Given the description of an element on the screen output the (x, y) to click on. 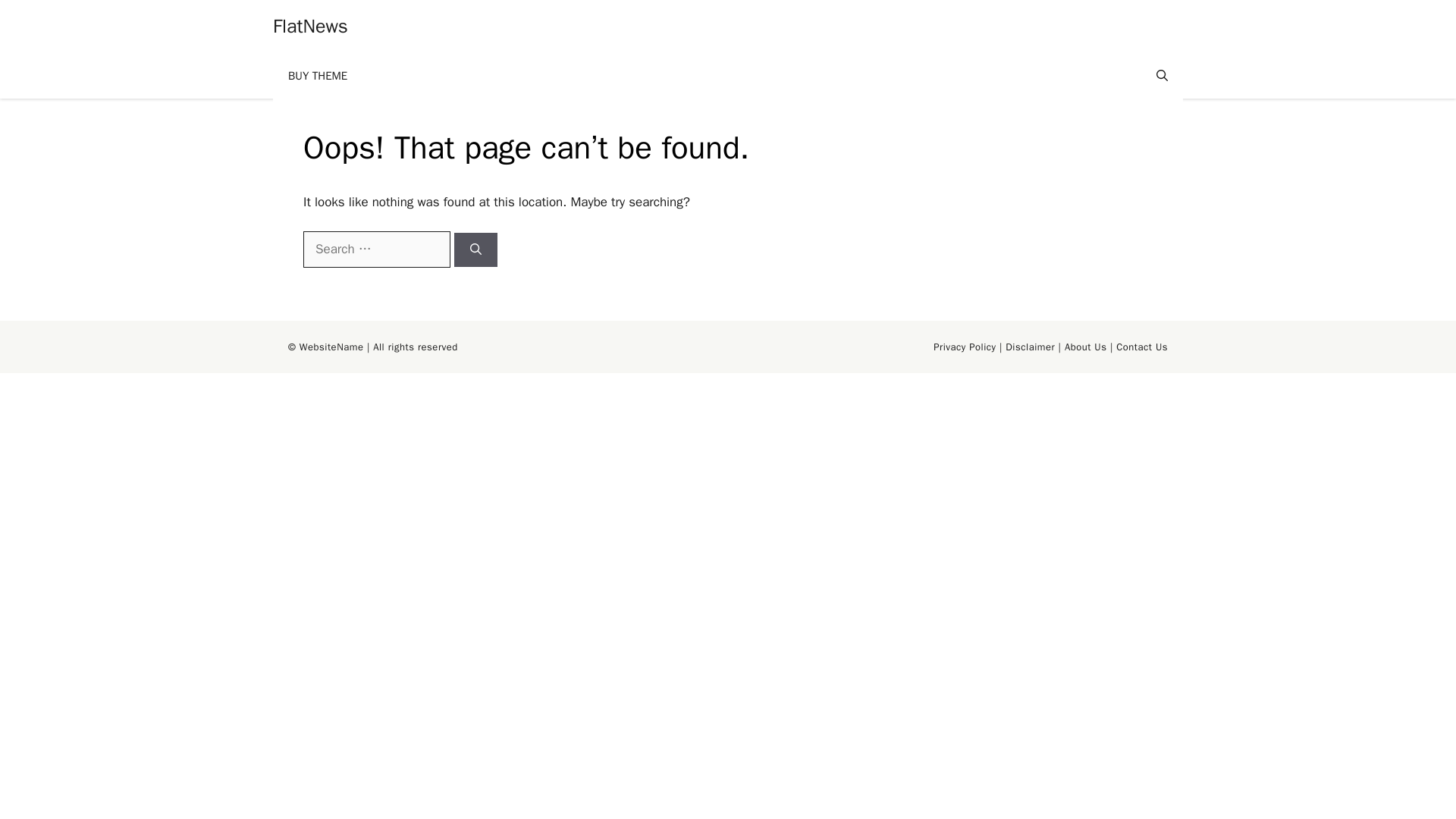
Search for: (375, 248)
BUY THEME (317, 75)
Contact Us (1141, 346)
About Us (1085, 346)
FlatNews (310, 25)
Privacy Policy (964, 346)
Disclaimer (1030, 346)
